Given the description of an element on the screen output the (x, y) to click on. 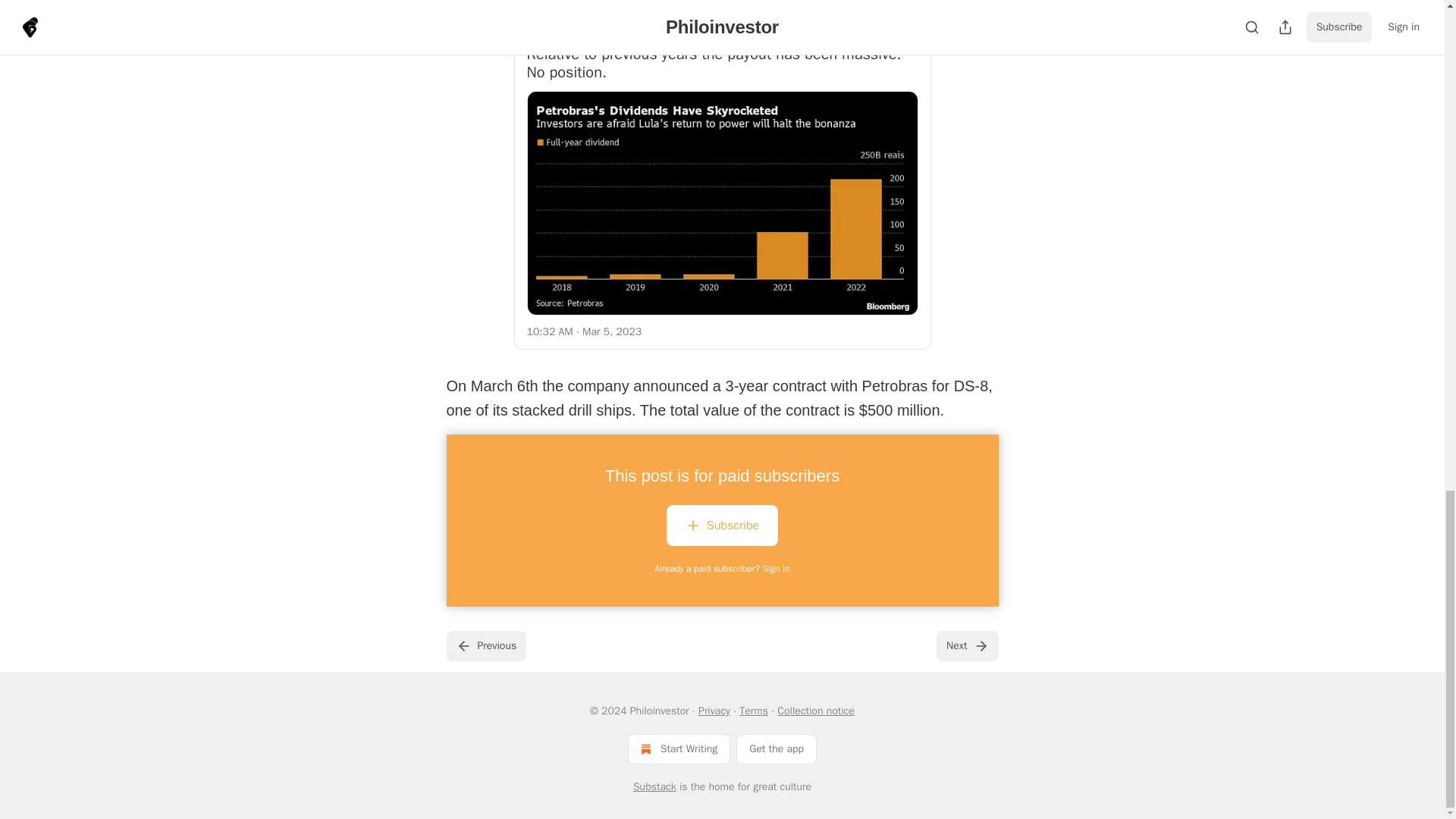
Get the app (776, 748)
Start Writing (678, 748)
Privacy (714, 710)
Terms (753, 710)
Substack (655, 786)
Previous (485, 645)
Subscribe (721, 525)
Subscribe (721, 527)
Next (966, 645)
Collection notice (815, 710)
